Given the description of an element on the screen output the (x, y) to click on. 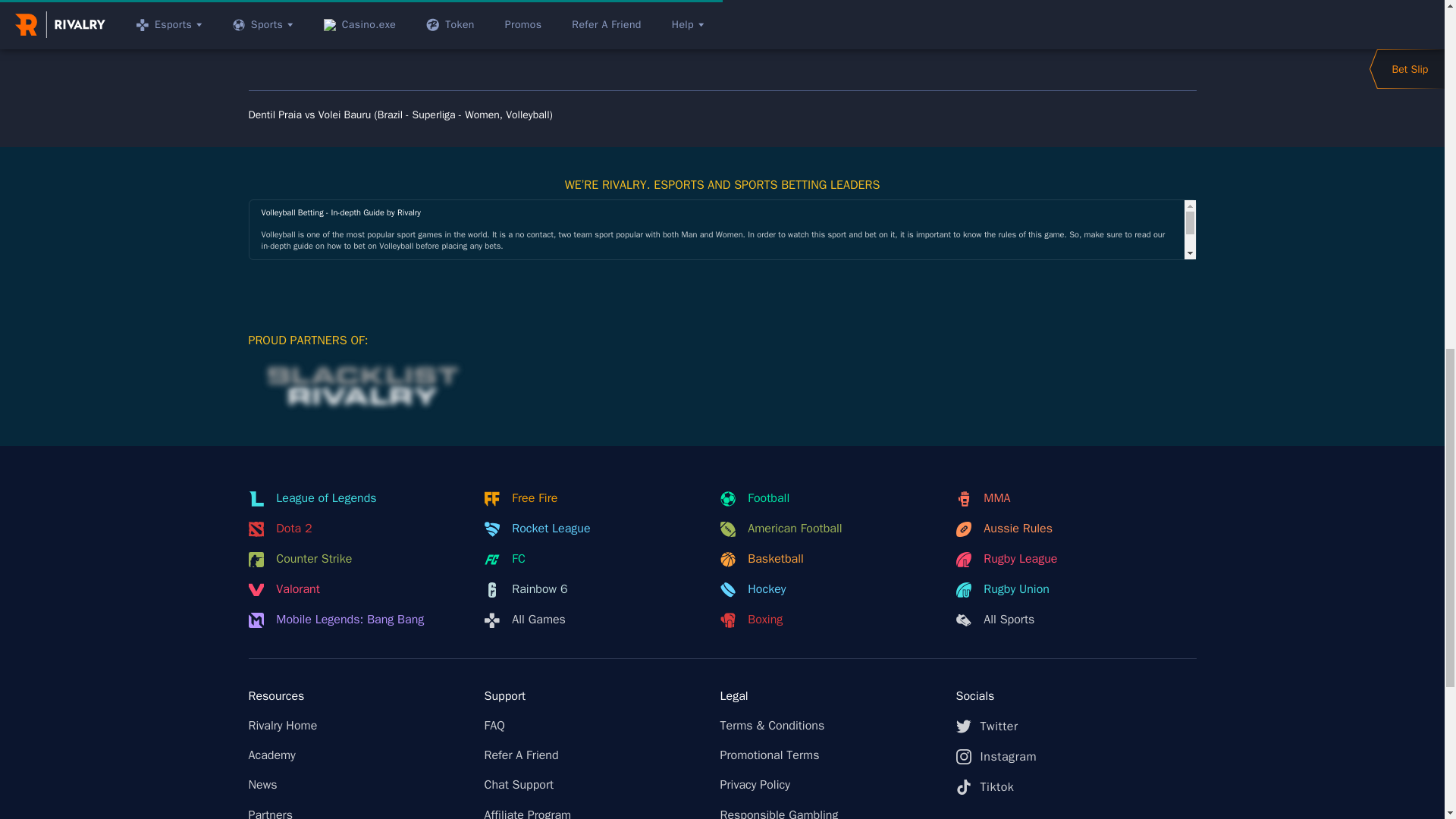
Boxing (828, 620)
FIVB (930, 676)
Rainbow 6 (592, 589)
MMA (1064, 498)
Hockey (828, 589)
FC (592, 559)
Counter Strike (356, 559)
League of Legends (356, 498)
Football (828, 498)
Basketball (828, 559)
Valorant (356, 589)
Rocket League (592, 529)
Dota 2 (356, 529)
All Games (592, 620)
Mobile Legends: Bang Bang (356, 620)
